Given the description of an element on the screen output the (x, y) to click on. 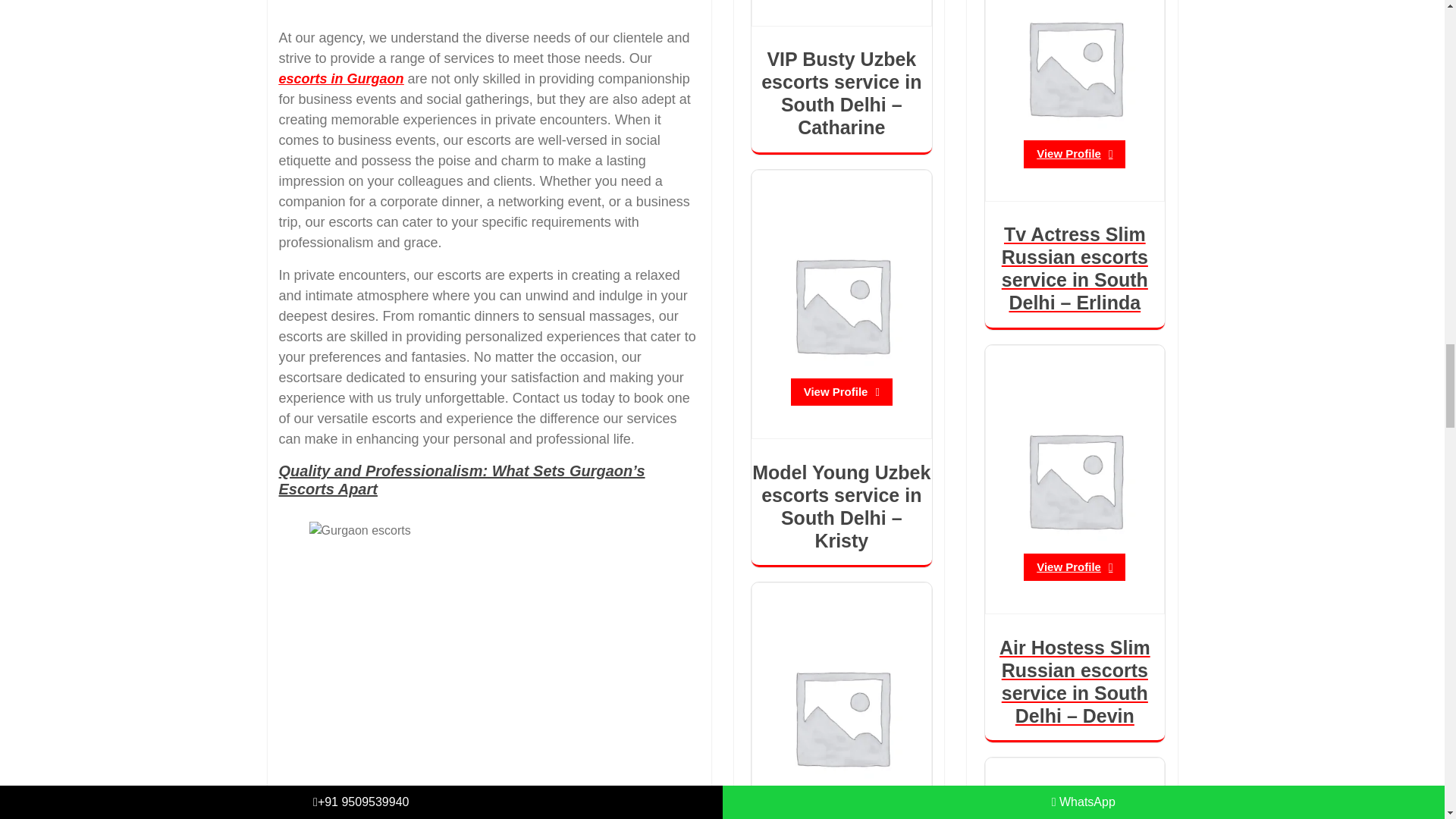
View Profile (1074, 567)
View Profile (1074, 154)
escorts in Gurgaon (341, 78)
